Given the description of an element on the screen output the (x, y) to click on. 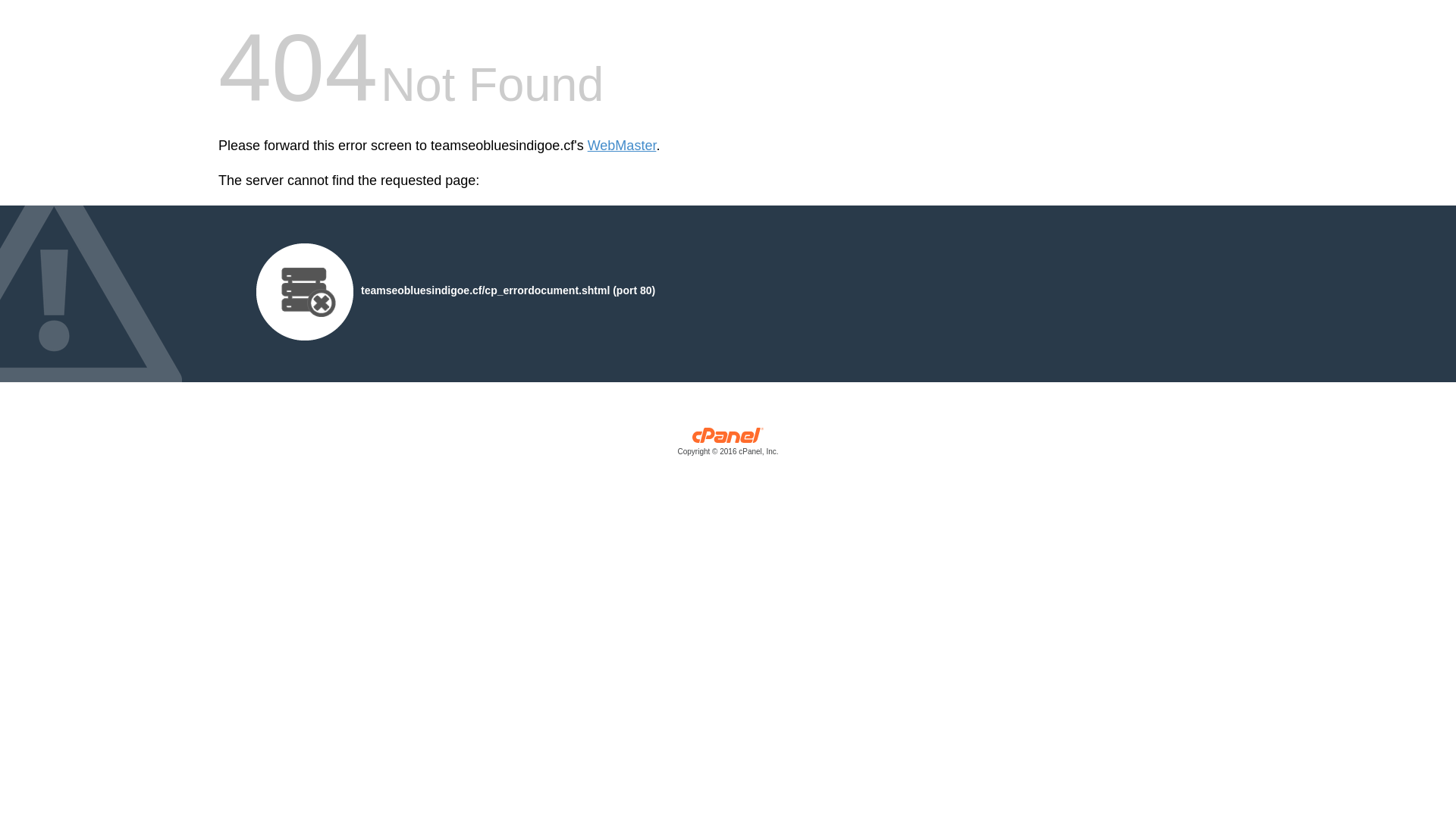
WebMaster Element type: text (621, 145)
